Given the description of an element on the screen output the (x, y) to click on. 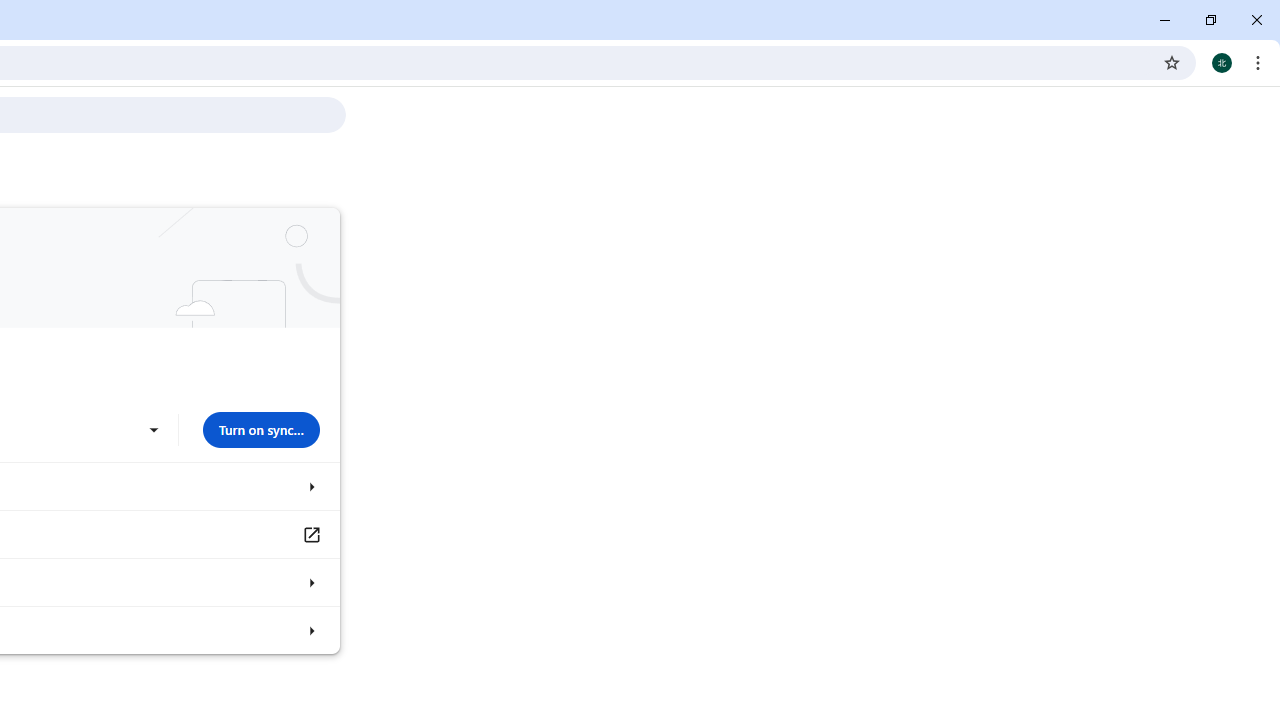
Use another account (153, 430)
Manage your Google Account (310, 533)
Customize your Chrome profile (310, 582)
Import bookmarks and settings (310, 630)
Sync and Google services (310, 486)
